Given the description of an element on the screen output the (x, y) to click on. 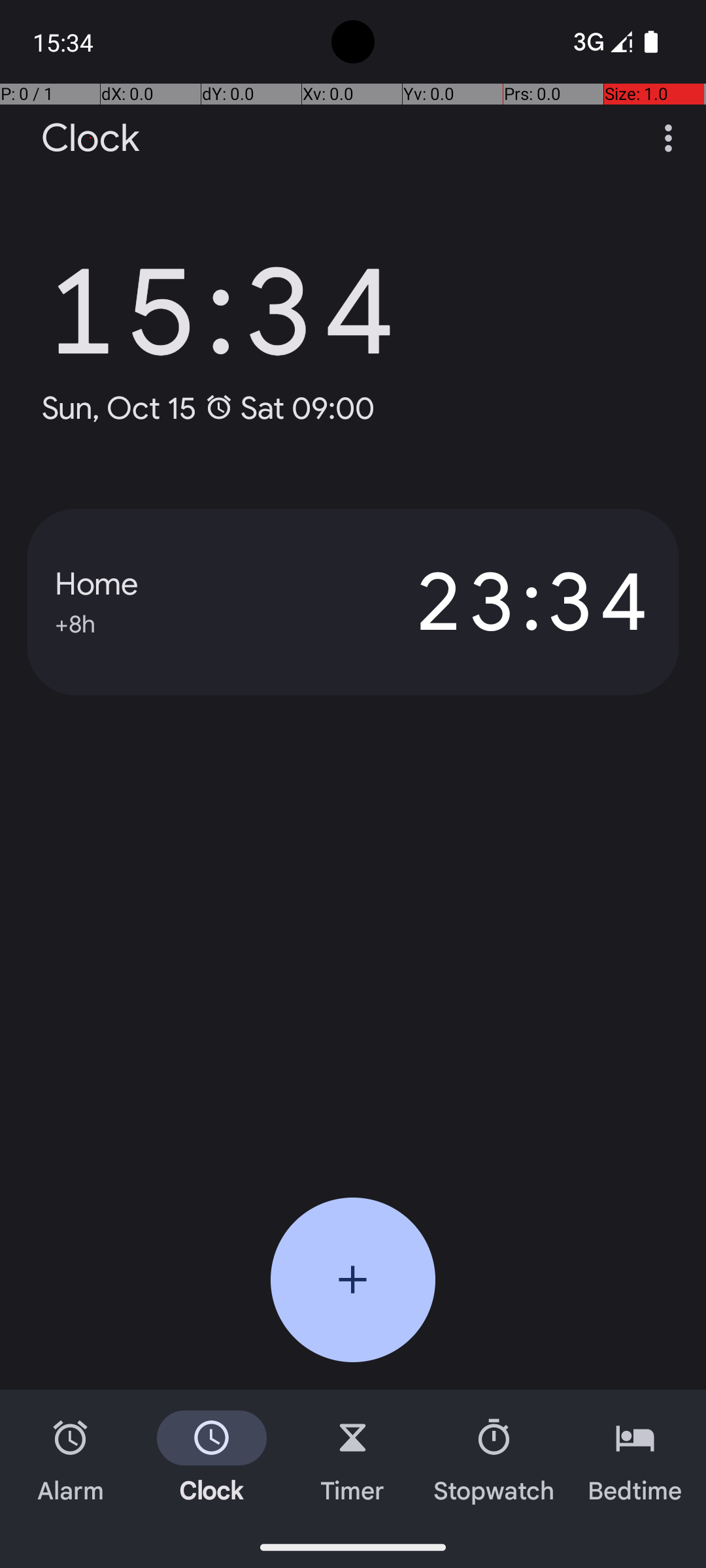
Sun, Oct 15 A Sat 09:00 Element type: android.widget.TextView (207, 407)
+8h Element type: android.widget.TextView (74, 621)
23:34 Element type: android.widget.TextView (502, 601)
